Given the description of an element on the screen output the (x, y) to click on. 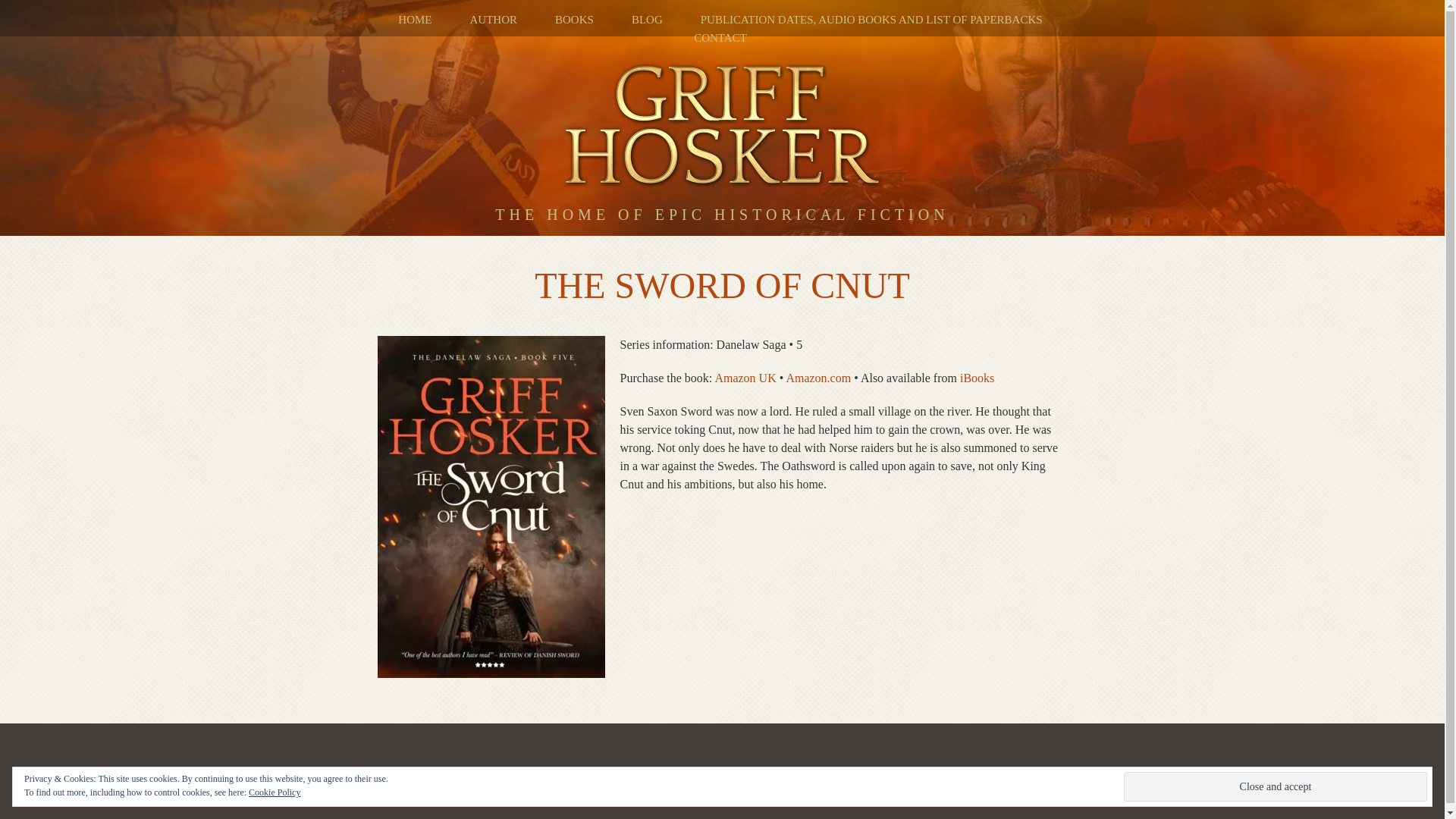
CONTACT (720, 37)
Amazon UK (745, 377)
THE HOME OF EPIC HISTORICAL FICTION (722, 258)
PUBLICATION DATES, AUDIO BOOKS AND LIST OF PAPERBACKS (871, 19)
AUTHOR (494, 19)
Description (722, 258)
Cookie Policy (273, 792)
iBooks (976, 377)
Close and accept (1275, 786)
BLOG (646, 19)
